Given the description of an element on the screen output the (x, y) to click on. 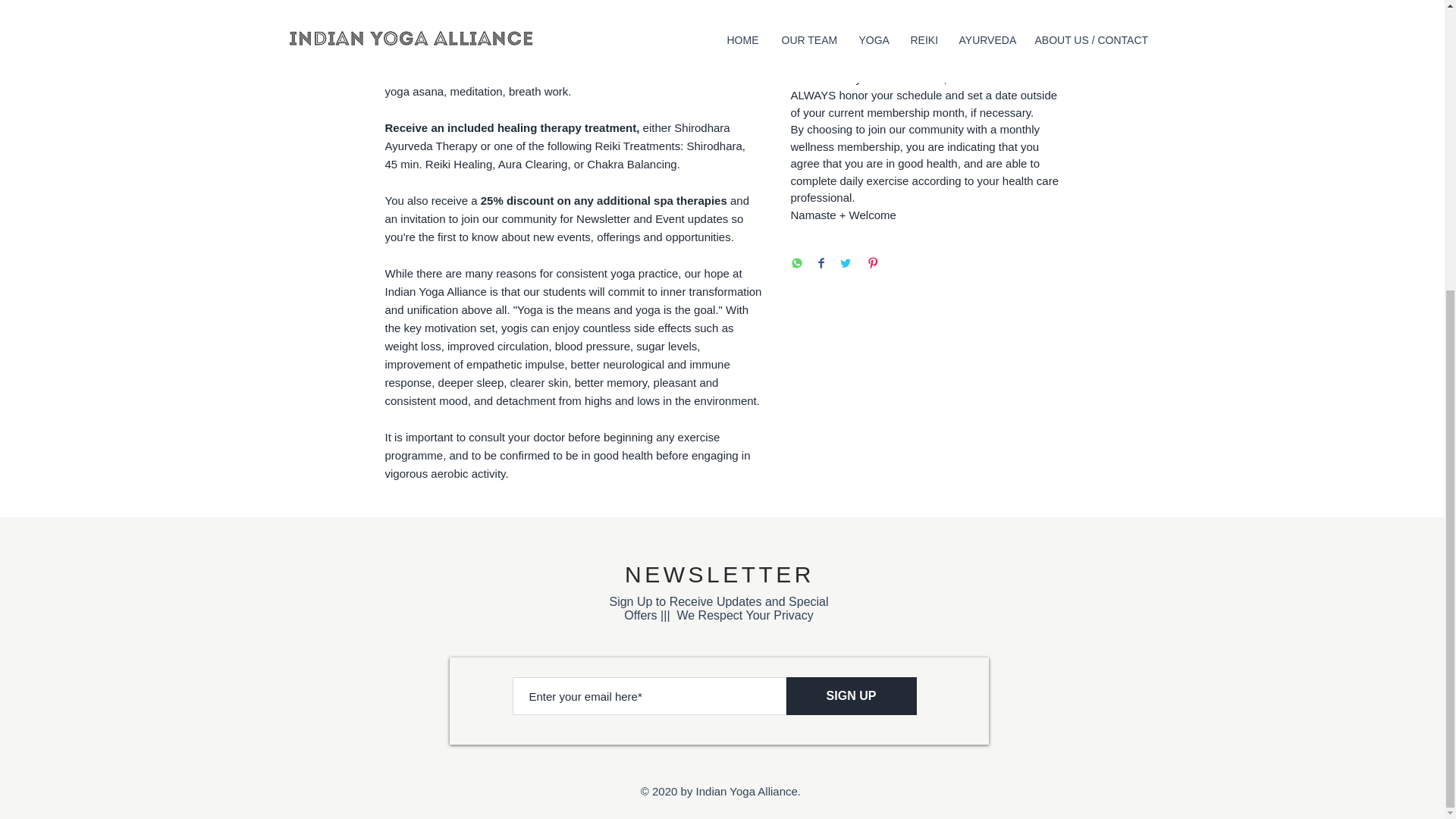
SIGN UP (850, 695)
